Given the description of an element on the screen output the (x, y) to click on. 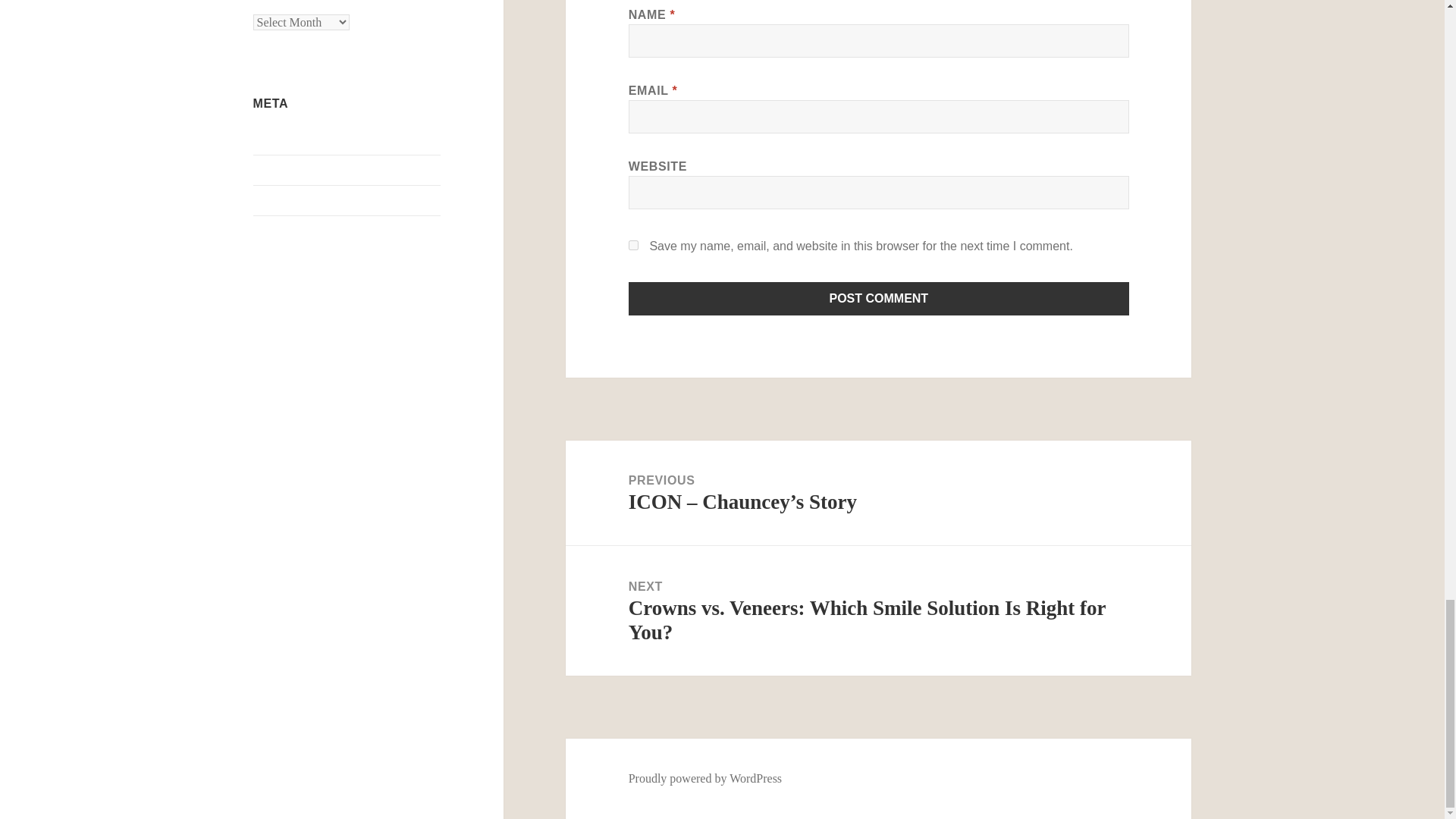
yes (633, 245)
Post Comment (878, 298)
